Given the description of an element on the screen output the (x, y) to click on. 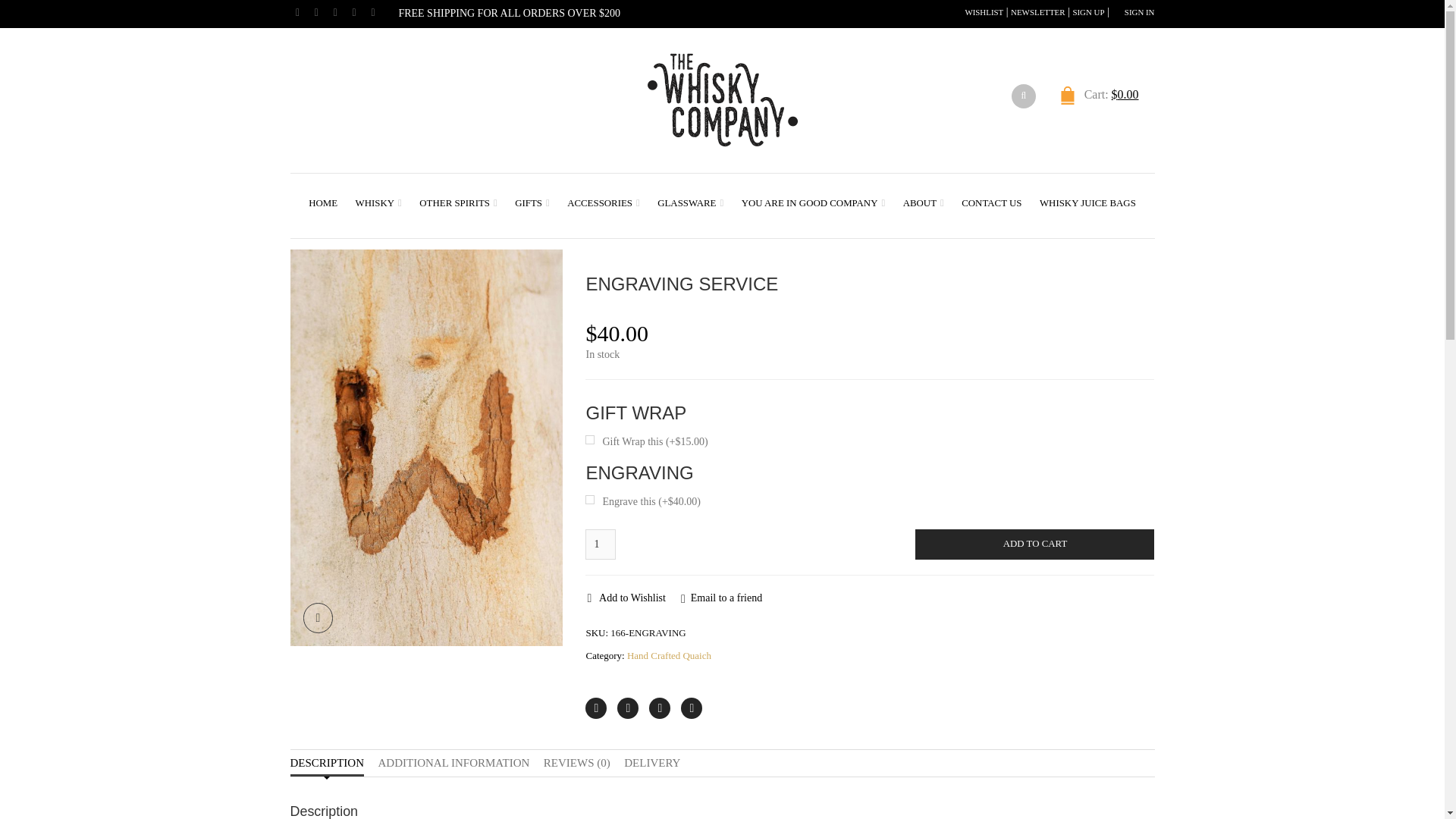
gift-wrap-this (589, 439)
1 (600, 544)
engrave-this (589, 499)
